Given the description of an element on the screen output the (x, y) to click on. 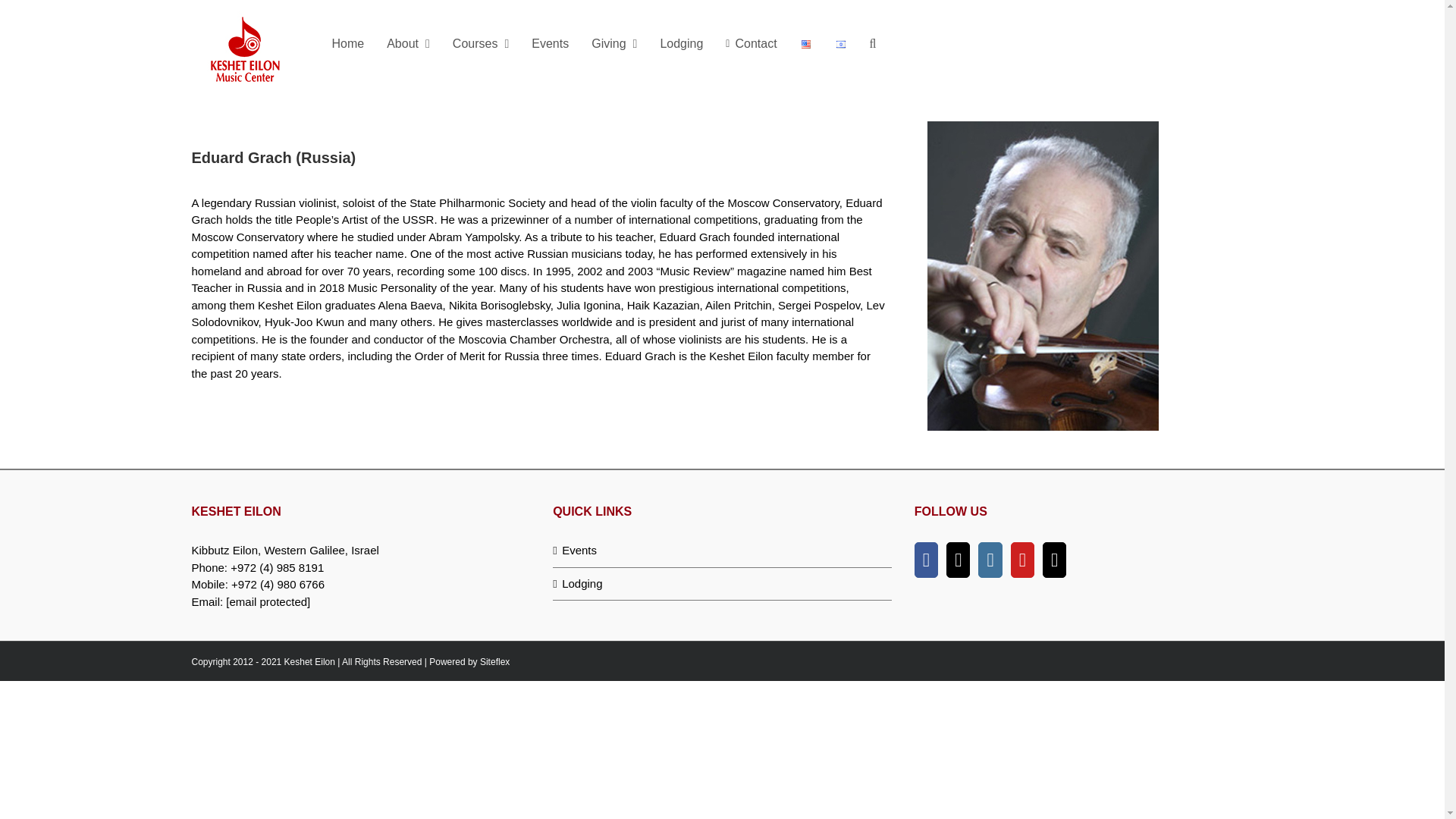
Events (722, 550)
Lodging (722, 583)
Courses (480, 43)
